Given the description of an element on the screen output the (x, y) to click on. 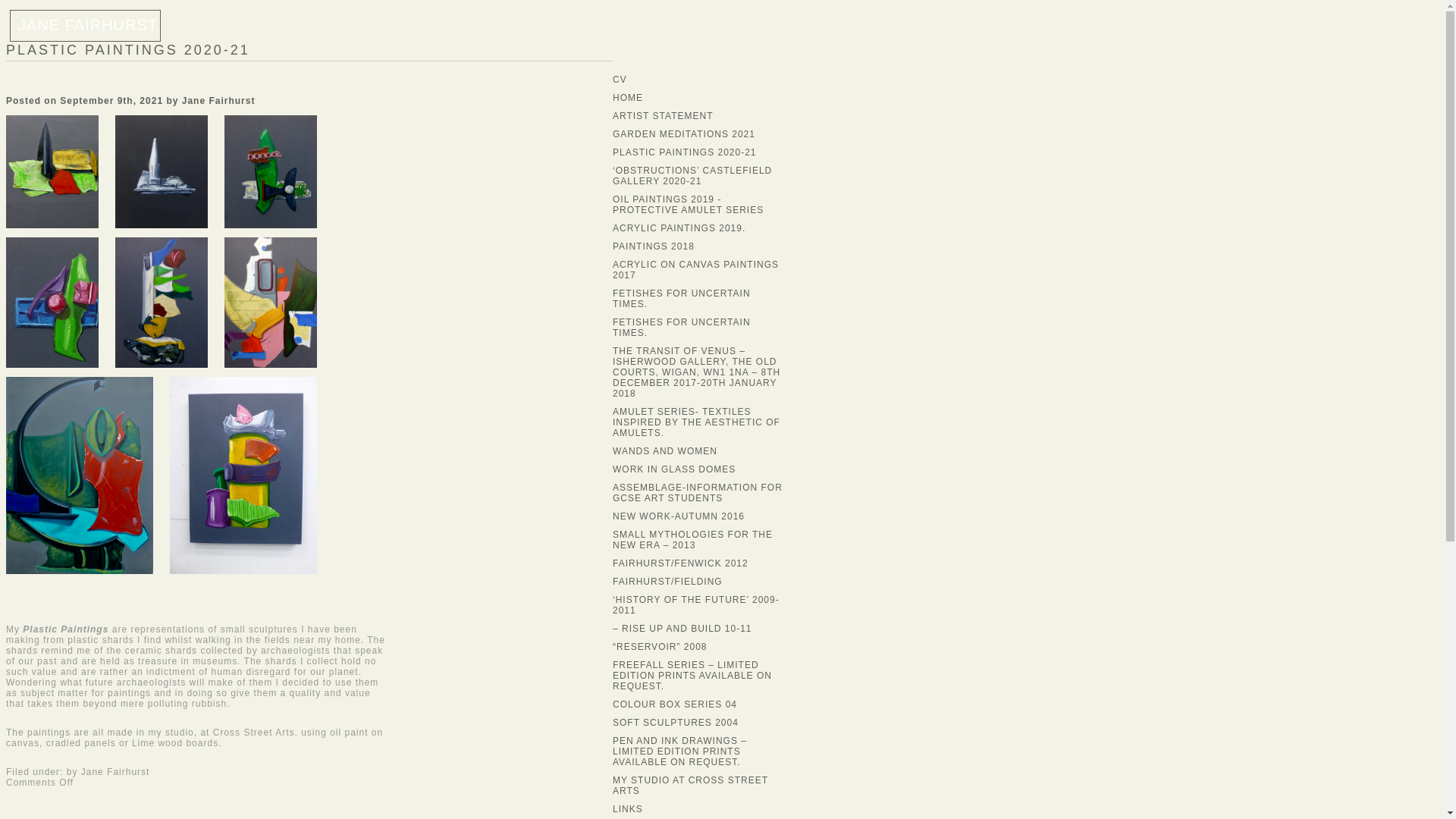
GARDEN MEDITATIONS 2021 (683, 133)
JANE FAIRHURST (85, 25)
SOFT SCULPTURES 2004 (675, 722)
FETISHES FOR UNCERTAIN TIMES. (681, 298)
ACRYLIC ON CANVAS PAINTINGS 2017 (695, 269)
PAINTINGS 2018 (653, 245)
CV (619, 79)
NEW WORK-AUTUMN 2016 (678, 516)
MY STUDIO AT CROSS STREET ARTS (690, 785)
LINKS (627, 808)
ARTIST STATEMENT (662, 115)
WANDS AND WOMEN (664, 450)
OIL PAINTINGS 2019 -PROTECTIVE AMULET SERIES (687, 204)
COLOUR BOX SERIES 04 (674, 704)
WORK IN GLASS DOMES (673, 469)
